Given the description of an element on the screen output the (x, y) to click on. 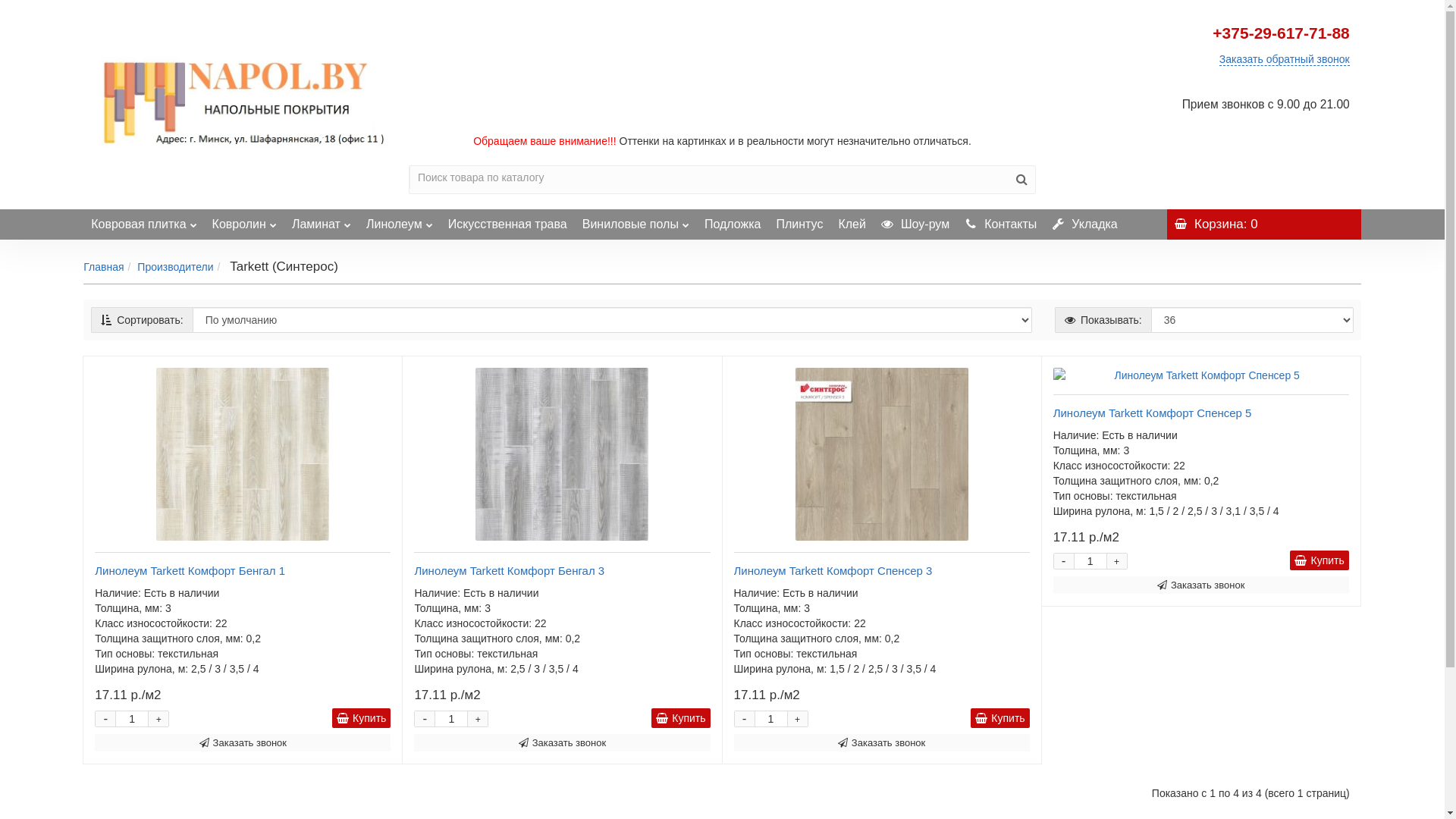
+ Element type: text (1116, 560)
- Element type: text (1063, 560)
+ Element type: text (477, 718)
- Element type: text (743, 718)
+ Element type: text (796, 718)
- Element type: text (105, 718)
+ Element type: text (158, 718)
+375-29-617-71-88 Element type: text (1280, 32)
- Element type: text (424, 718)
